Given the description of an element on the screen output the (x, y) to click on. 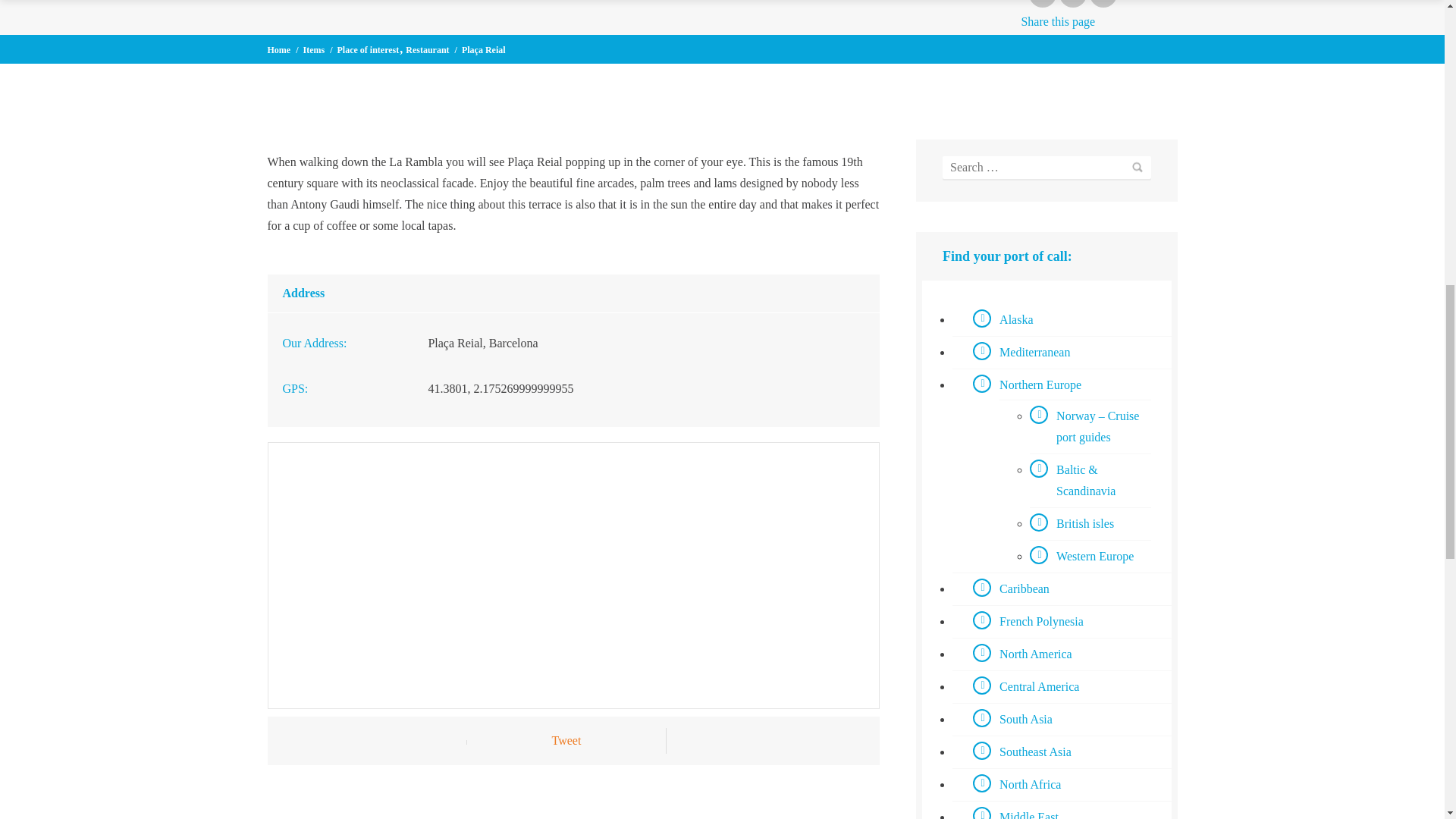
Search for: (1046, 167)
Search (1135, 167)
Search (1135, 167)
Items (313, 49)
